Given the description of an element on the screen output the (x, y) to click on. 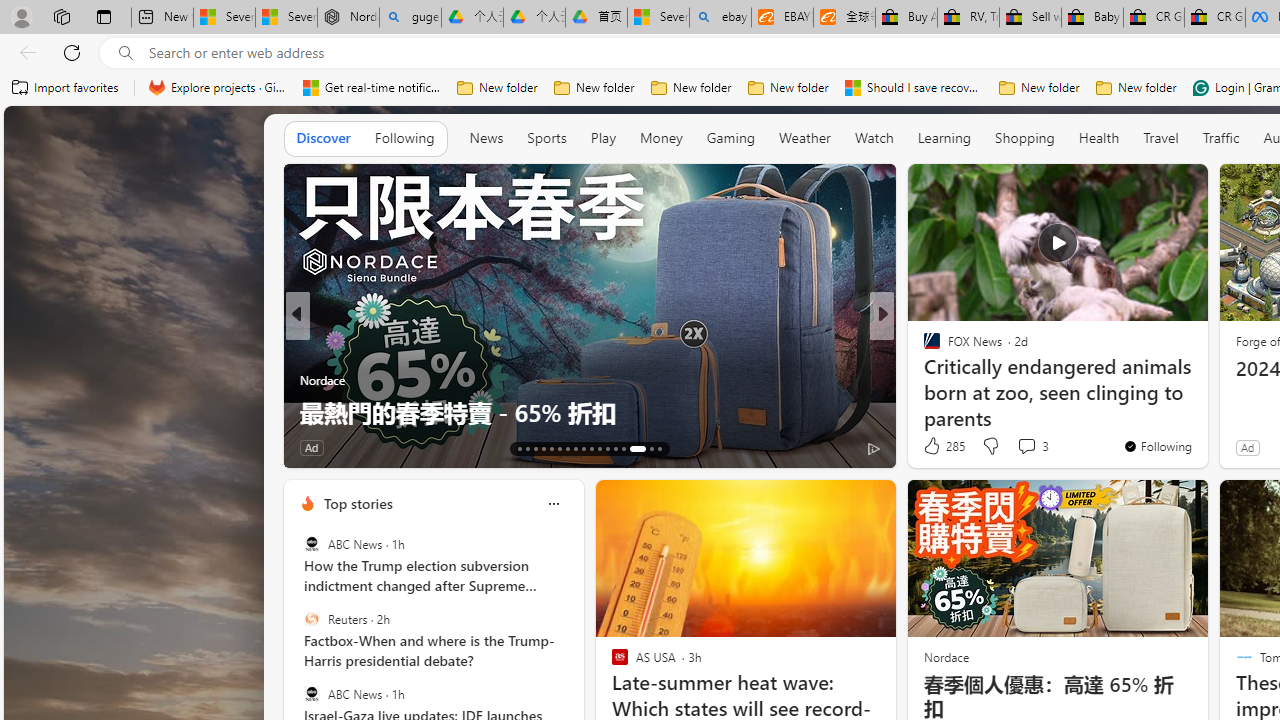
Money (660, 137)
Learning (944, 138)
guge yunpan - Search (410, 17)
Personal Profile (21, 16)
View comments 3 Comment (1032, 446)
Back (24, 52)
AutomationID: tab-13 (518, 448)
View comments 2 Comment (1019, 447)
Discover (323, 138)
AutomationID: tab-18 (559, 448)
AutomationID: tab-42 (659, 448)
Search icon (125, 53)
Import favorites (65, 88)
You're following FOX News (1157, 445)
